Given the description of an element on the screen output the (x, y) to click on. 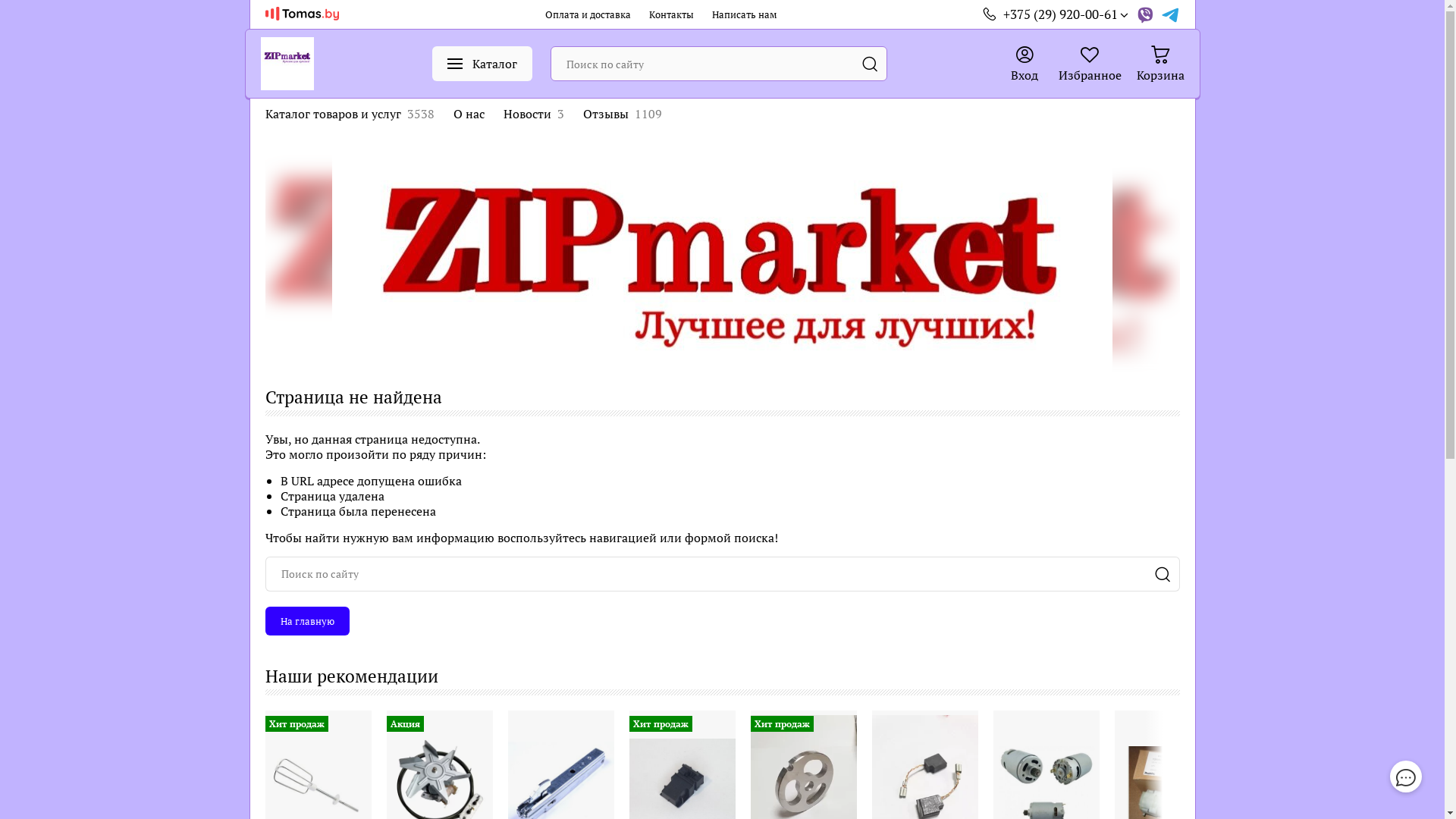
+375 (29) 920-00-61 Element type: text (1064, 13)
Viber Element type: hover (1144, 14)
Telegram Element type: hover (1170, 14)
Zipmarket Element type: hover (286, 63)
